Given the description of an element on the screen output the (x, y) to click on. 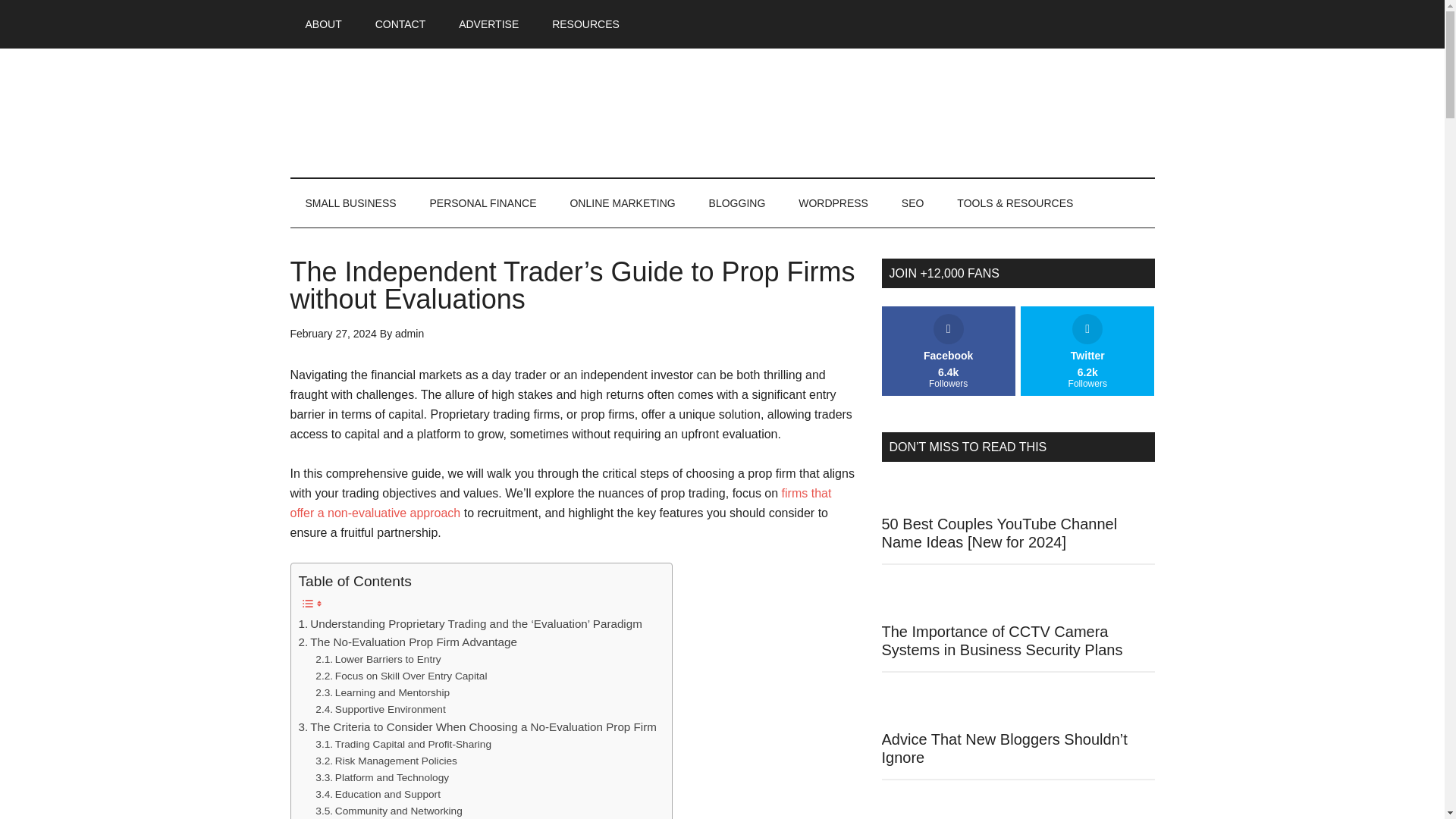
The No-Evaluation Prop Firm Advantage (407, 642)
Community and Networking (389, 811)
ADVERTISE (489, 24)
admin (408, 333)
SEO (912, 203)
Risk Management Policies (386, 760)
Lower Barriers to Entry (378, 659)
Lower Barriers to Entry (378, 659)
CONTACT (400, 24)
